Given the description of an element on the screen output the (x, y) to click on. 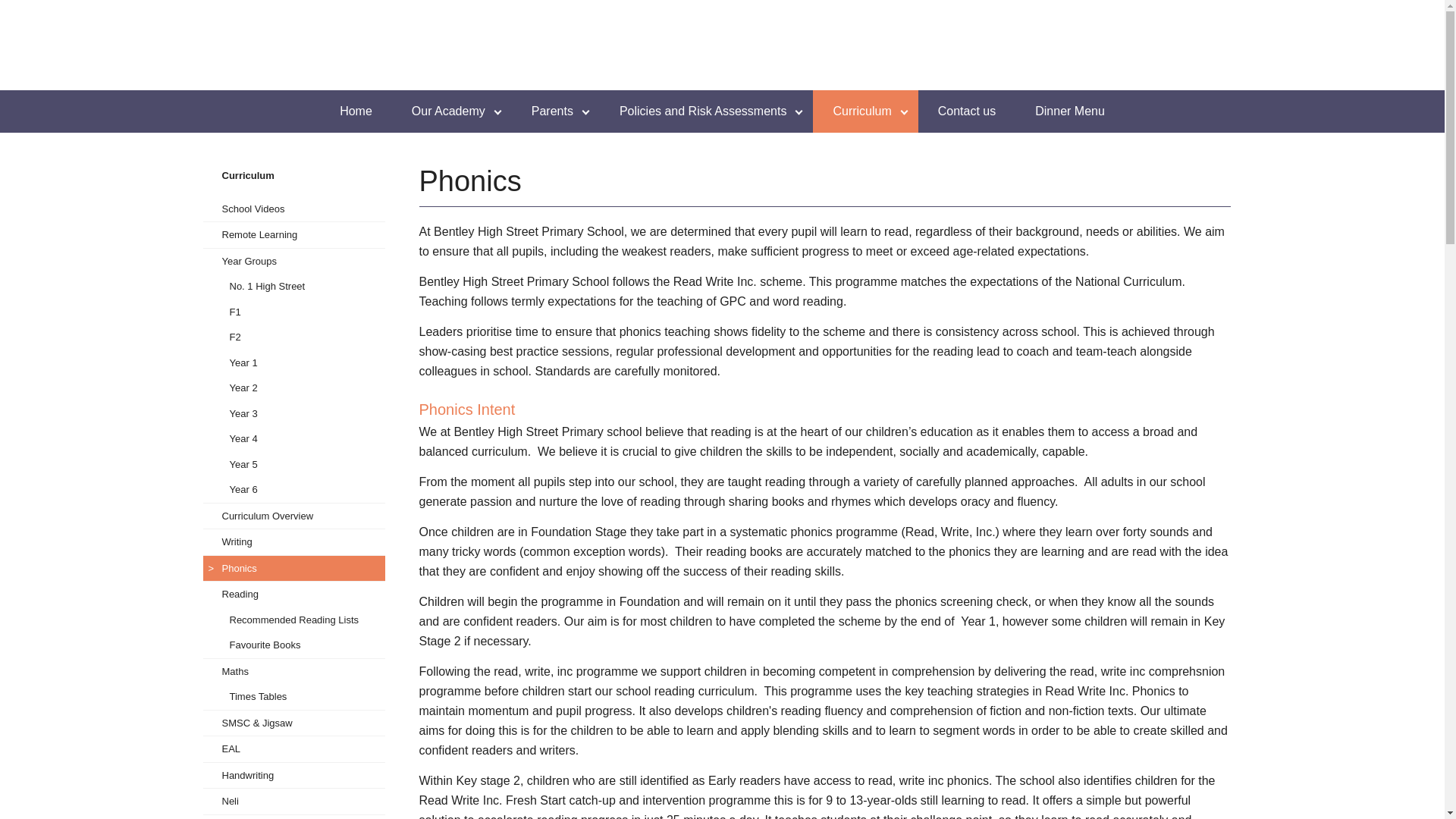
Parents (555, 111)
Home (355, 111)
Our Academy (451, 111)
Policies and Risk Assessments (706, 111)
